Given the description of an element on the screen output the (x, y) to click on. 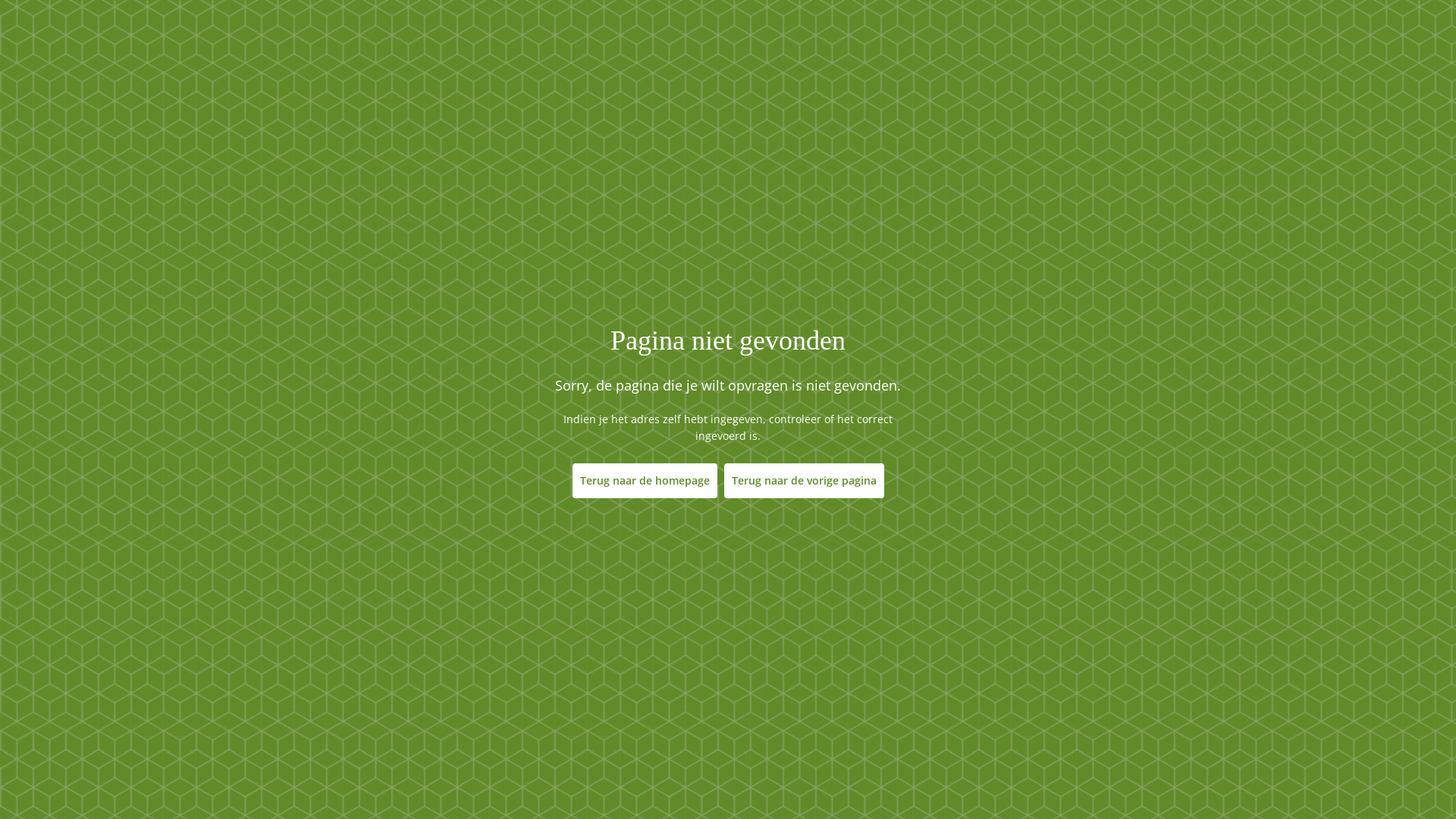
Terug naar de vorige pagina Element type: text (803, 479)
Terug naar de homepage Element type: text (643, 479)
